Given the description of an element on the screen output the (x, y) to click on. 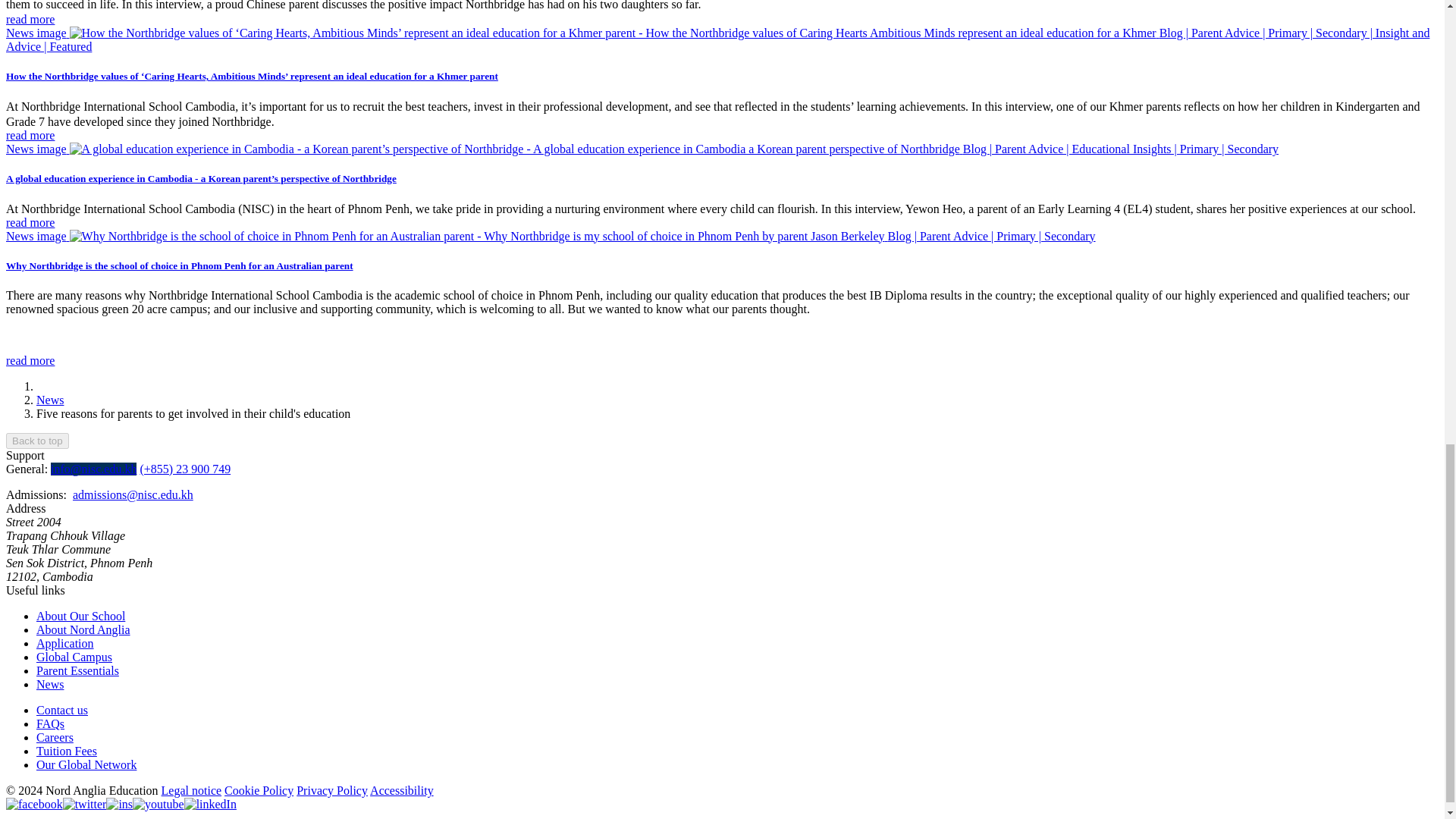
twitter (84, 803)
facebook (33, 803)
read more (30, 134)
read more (30, 359)
read more (30, 19)
read more (30, 221)
